Given the description of an element on the screen output the (x, y) to click on. 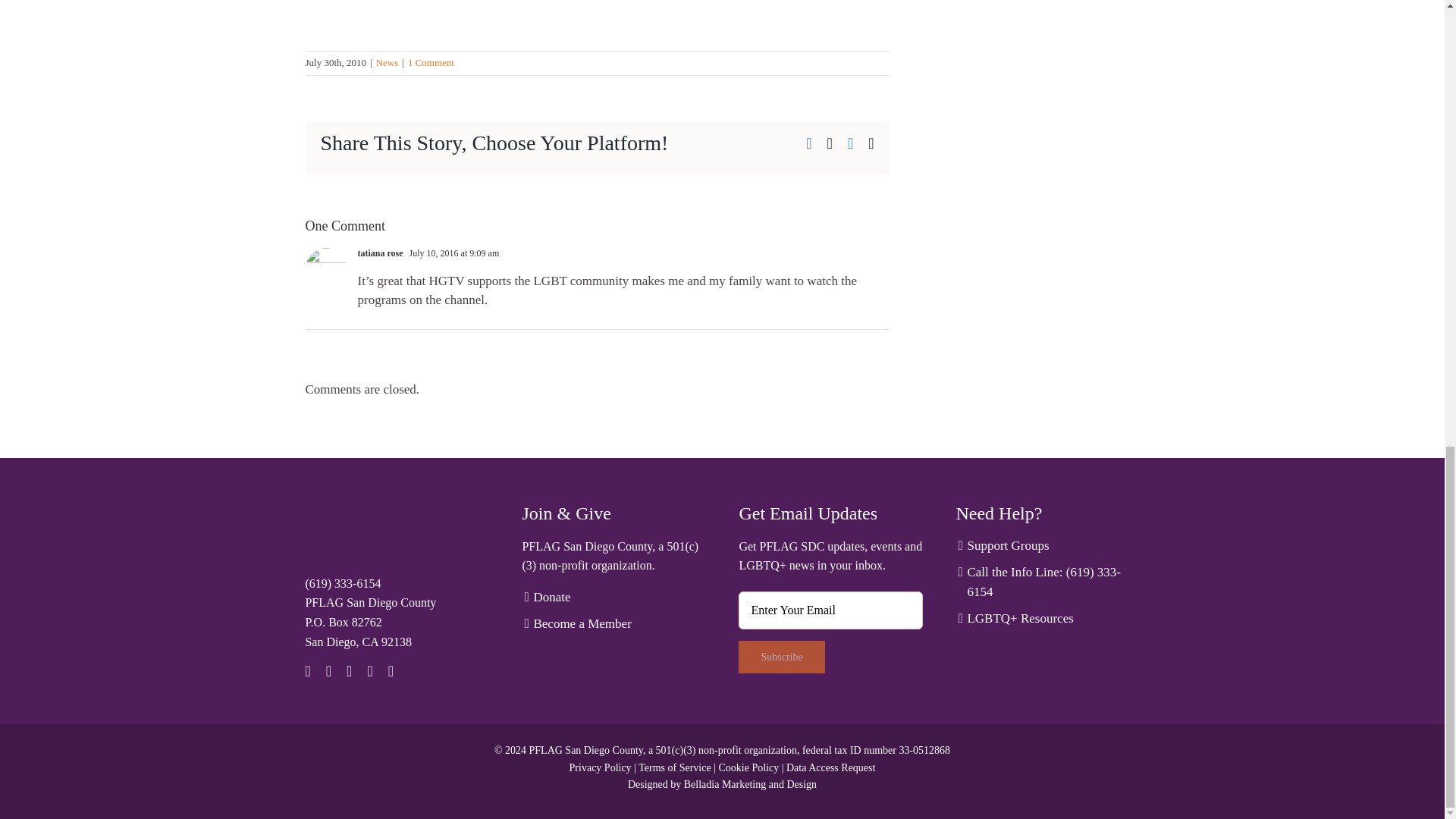
News (386, 61)
1 Comment (430, 61)
PFLAG-SDC-Logo-2023-web-white (368, 532)
Subscribe (781, 656)
